Given the description of an element on the screen output the (x, y) to click on. 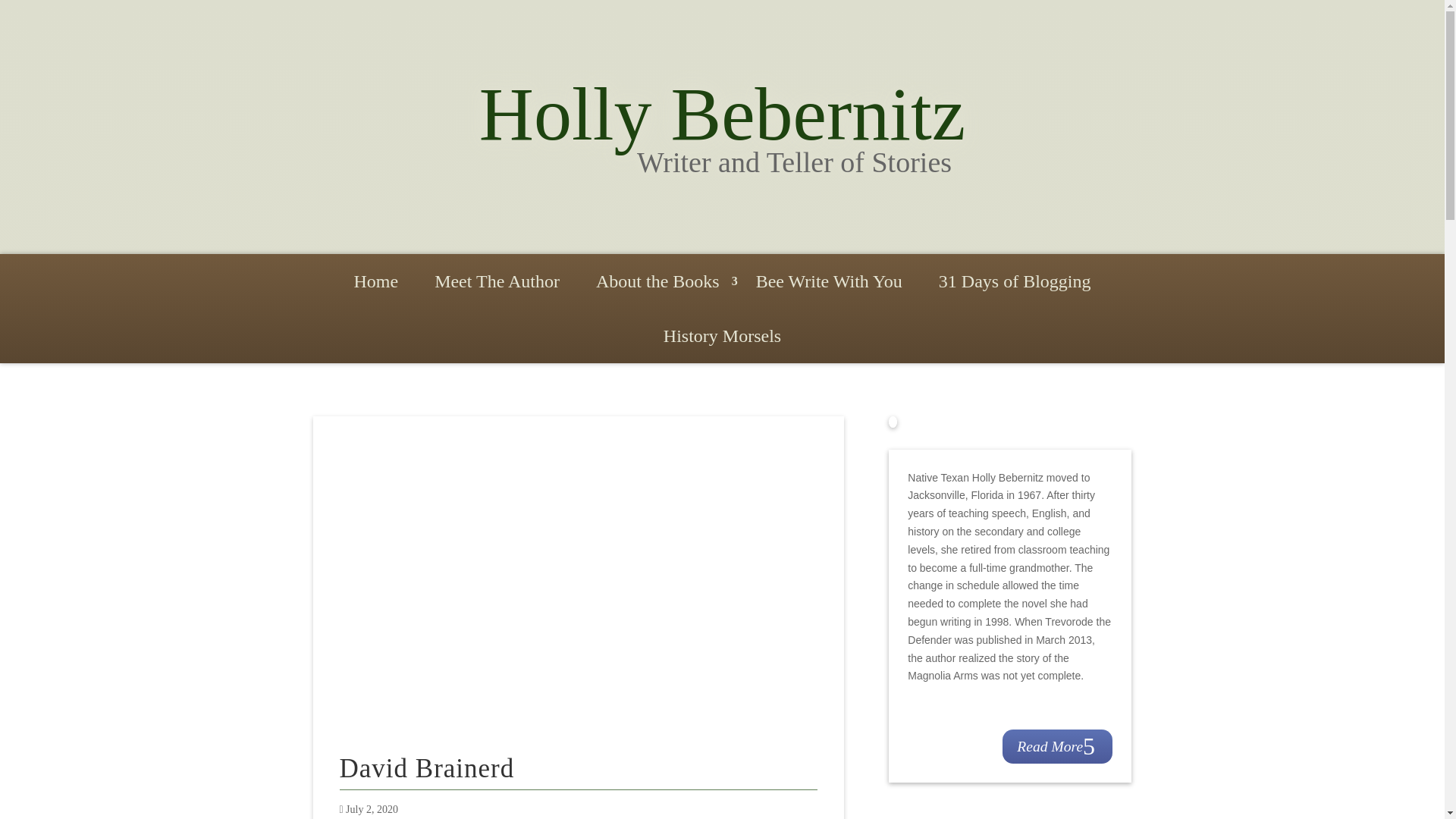
Bee Write With You (829, 284)
31 Days of Blogging (1014, 284)
History Morsels (722, 338)
Home (375, 284)
About the Books (658, 284)
Meet The Author (497, 284)
Read More (1058, 746)
